Given the description of an element on the screen output the (x, y) to click on. 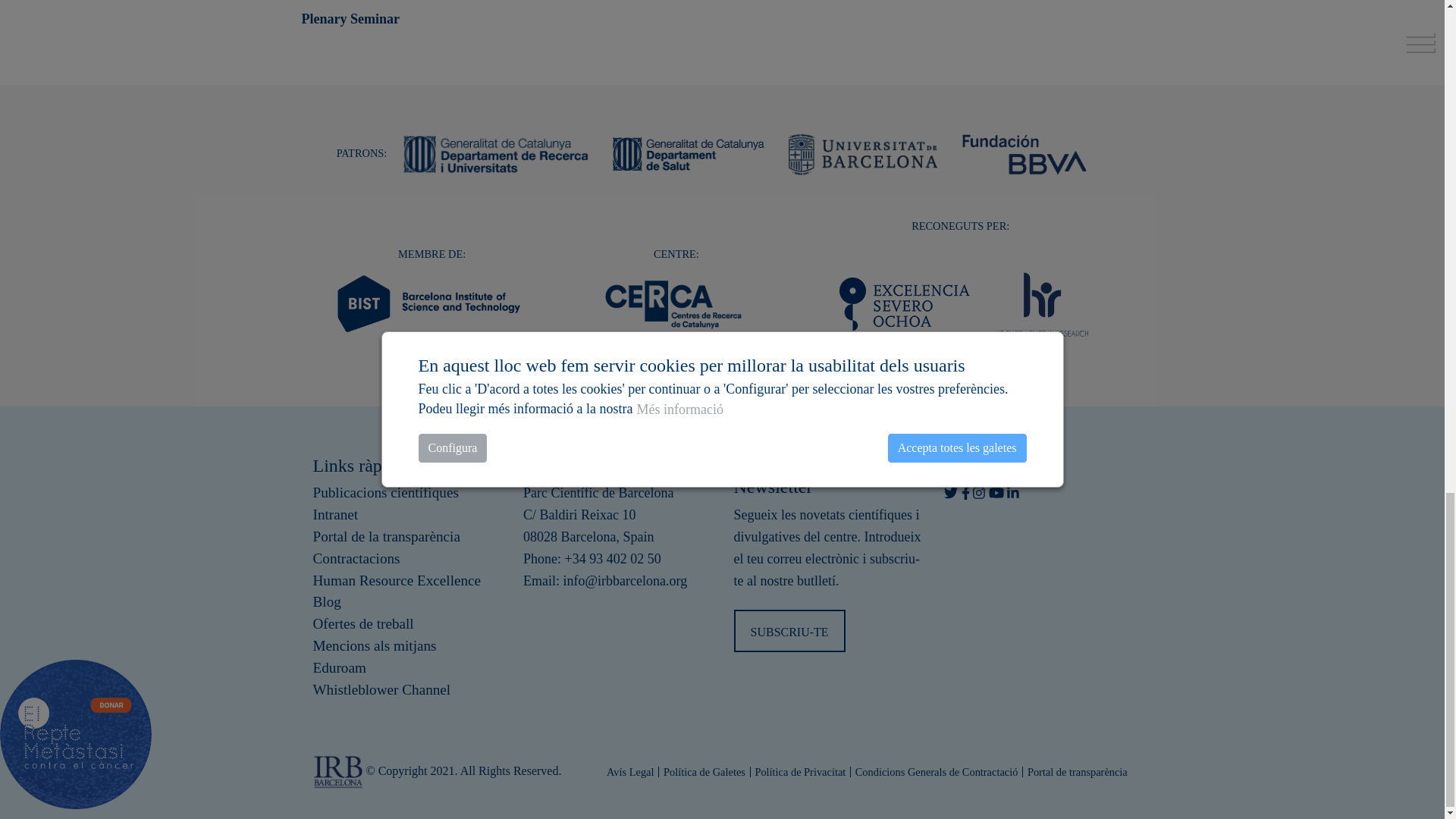
Youtube link (996, 492)
Instagram link (978, 492)
Facebook link (964, 492)
Linkedin link (1013, 492)
Twitter link (950, 492)
Instagram link (978, 492)
Linkedin link (1013, 492)
Facebook link (964, 492)
Youtube link (996, 492)
SVG (1042, 303)
Intranet (406, 515)
Twitter link (950, 492)
